Given the description of an element on the screen output the (x, y) to click on. 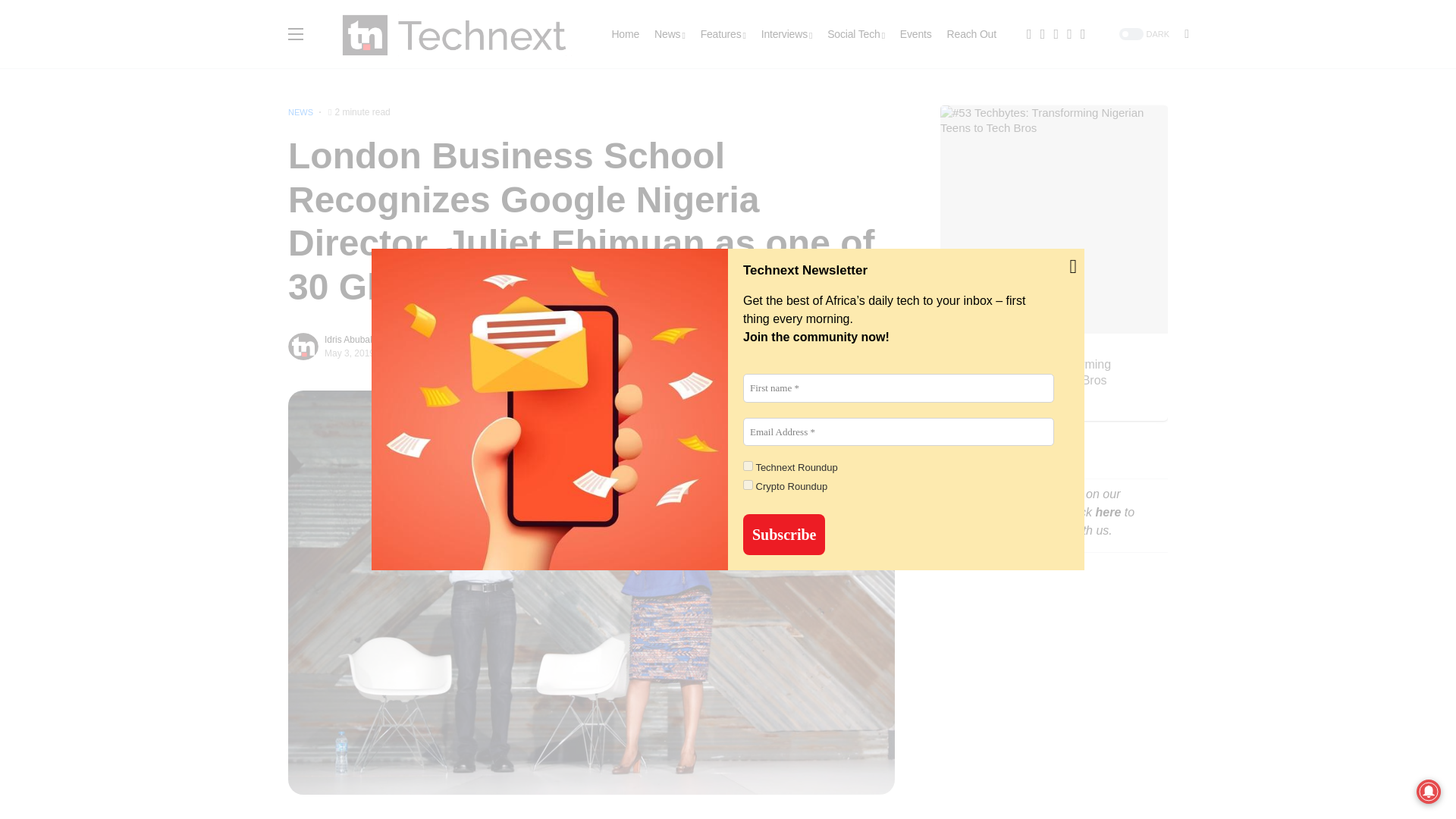
5 (747, 484)
First name (898, 387)
4 (747, 465)
Email Address (898, 431)
Subscribe (783, 534)
Advertisement (1053, 707)
